Given the description of an element on the screen output the (x, y) to click on. 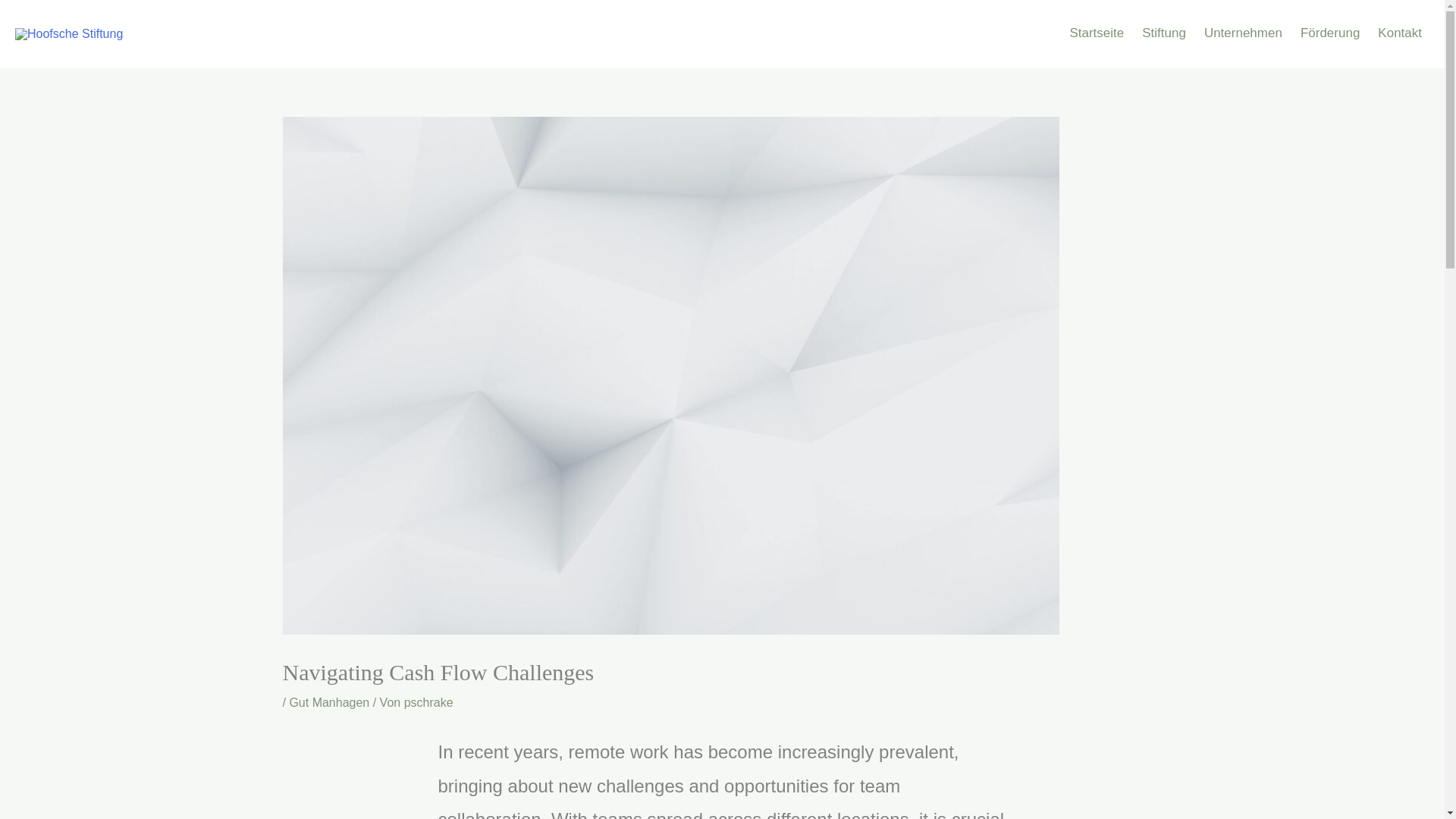
Startseite (1094, 34)
Gut Manhagen (328, 702)
Unternehmen (1241, 34)
Kontakt (1398, 34)
pschrake (428, 702)
Stiftung (1162, 34)
